Given the description of an element on the screen output the (x, y) to click on. 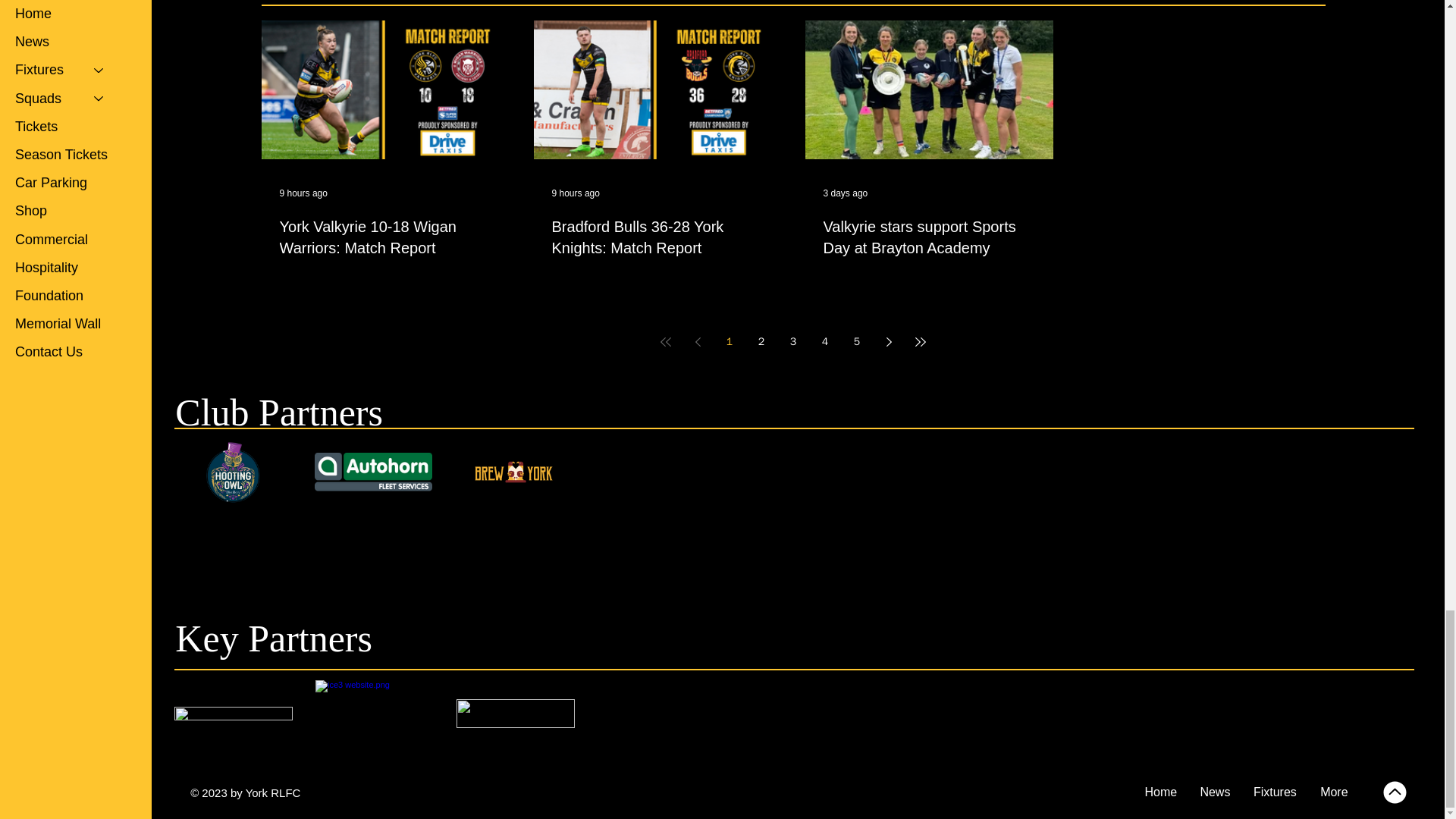
3 days ago (845, 193)
9 hours ago (575, 193)
9 hours ago (303, 193)
